Given the description of an element on the screen output the (x, y) to click on. 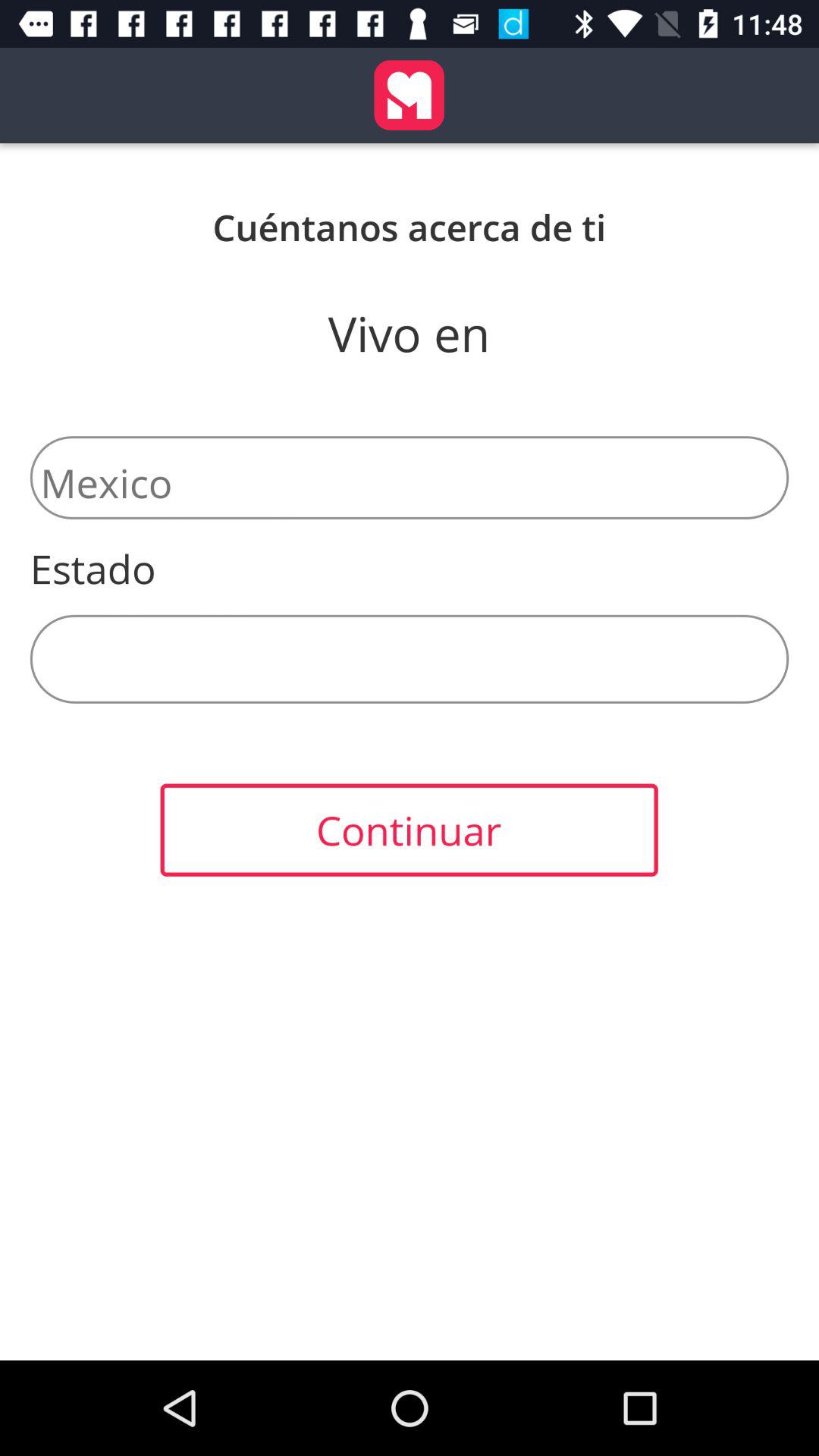
turn off item above estado (409, 477)
